Given the description of an element on the screen output the (x, y) to click on. 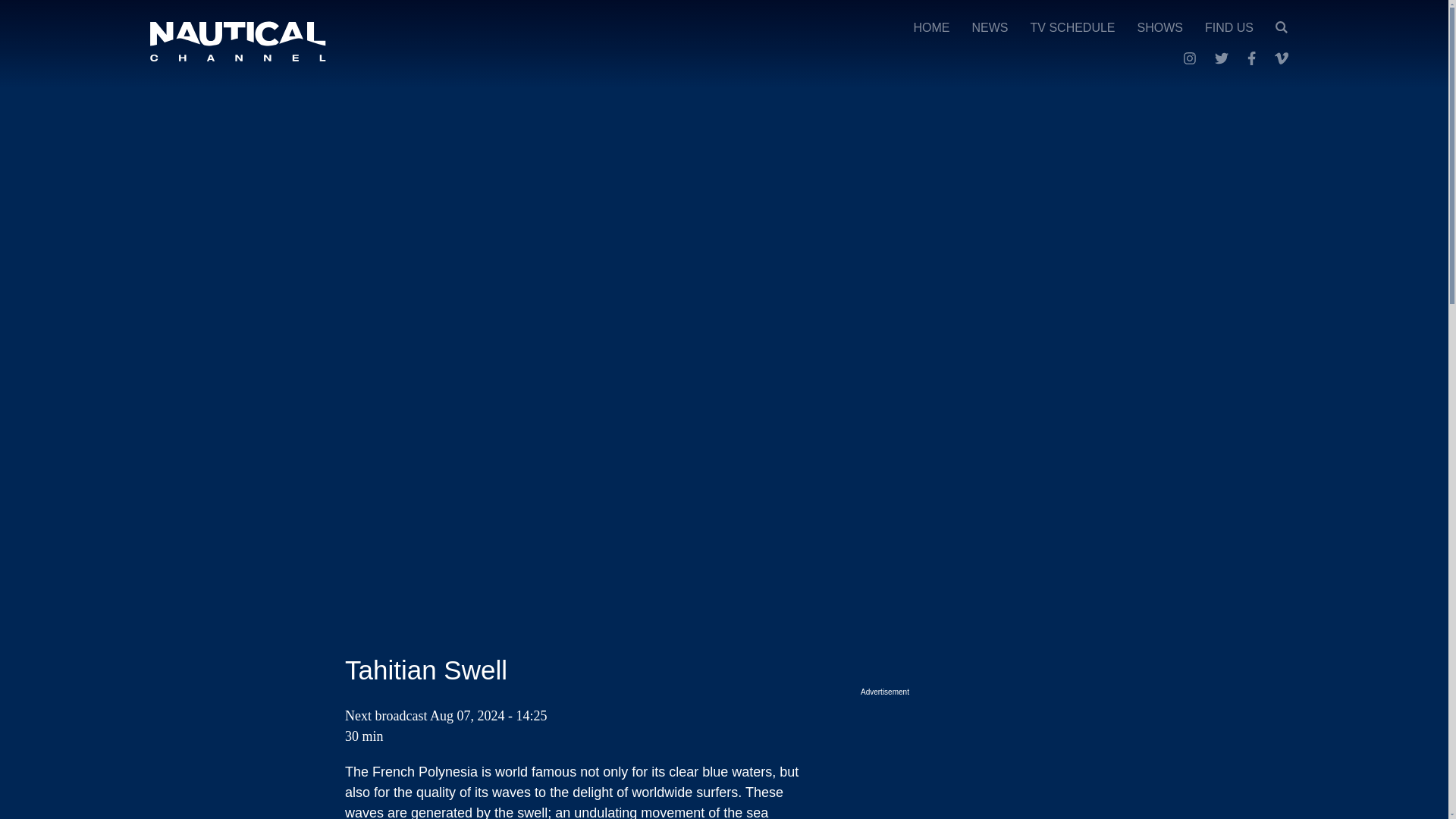
FIND US (1229, 27)
SHOWS (1159, 27)
NEWS (990, 27)
twitter (1221, 58)
Search (1281, 27)
HOME (932, 27)
TV SCHEDULE (1072, 27)
Vimeo (1281, 58)
